Given the description of an element on the screen output the (x, y) to click on. 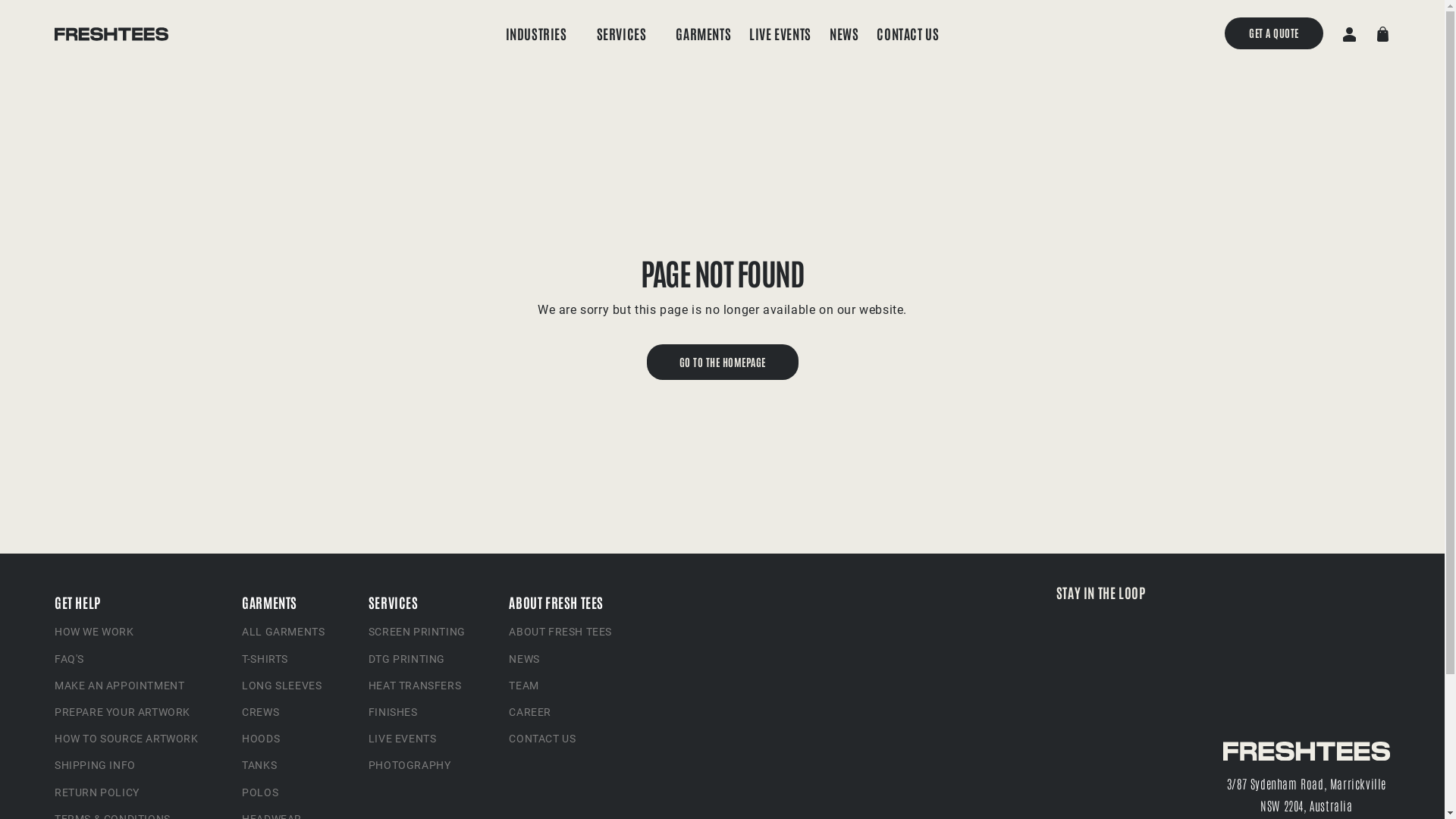
T-SHIRTS Element type: text (264, 659)
CONTACT US Element type: text (907, 33)
HOW WE WORK Element type: text (94, 633)
SHIPPING INFO Element type: text (94, 765)
Cart Element type: text (1382, 33)
Log in Element type: text (1348, 33)
FINISHES Element type: text (392, 712)
LIVE EVENTS Element type: text (402, 738)
NEWS Element type: text (843, 33)
INDUSTRIES Element type: text (536, 33)
PHOTOGRAPHY Element type: text (409, 765)
HOODS Element type: text (260, 738)
HOW TO SOURCE ARTWORK Element type: text (126, 738)
LIVE EVENTS Element type: text (780, 33)
CONTACT US Element type: text (541, 738)
GARMENTS Element type: text (703, 33)
FAQ'S Element type: text (69, 659)
CREWS Element type: text (260, 712)
GO TO THE HOMEPAGE Element type: text (721, 361)
POLOS Element type: text (259, 792)
RETURN POLICY Element type: text (96, 792)
MAKE AN APPOINTMENT Element type: text (119, 685)
SERVICES Element type: text (621, 33)
NEWS Element type: text (523, 659)
TANKS Element type: text (258, 765)
LONG SLEEVES Element type: text (281, 685)
GET A QUOTE Element type: text (1273, 32)
DTG PRINTING Element type: text (406, 659)
TEAM Element type: text (523, 685)
ALL GARMENTS Element type: text (282, 633)
CAREER Element type: text (529, 712)
ABOUT FRESH TEES Element type: text (559, 633)
PREPARE YOUR ARTWORK Element type: text (122, 712)
SCREEN PRINTING Element type: text (416, 633)
HEAT TRANSFERS Element type: text (414, 685)
